Given the description of an element on the screen output the (x, y) to click on. 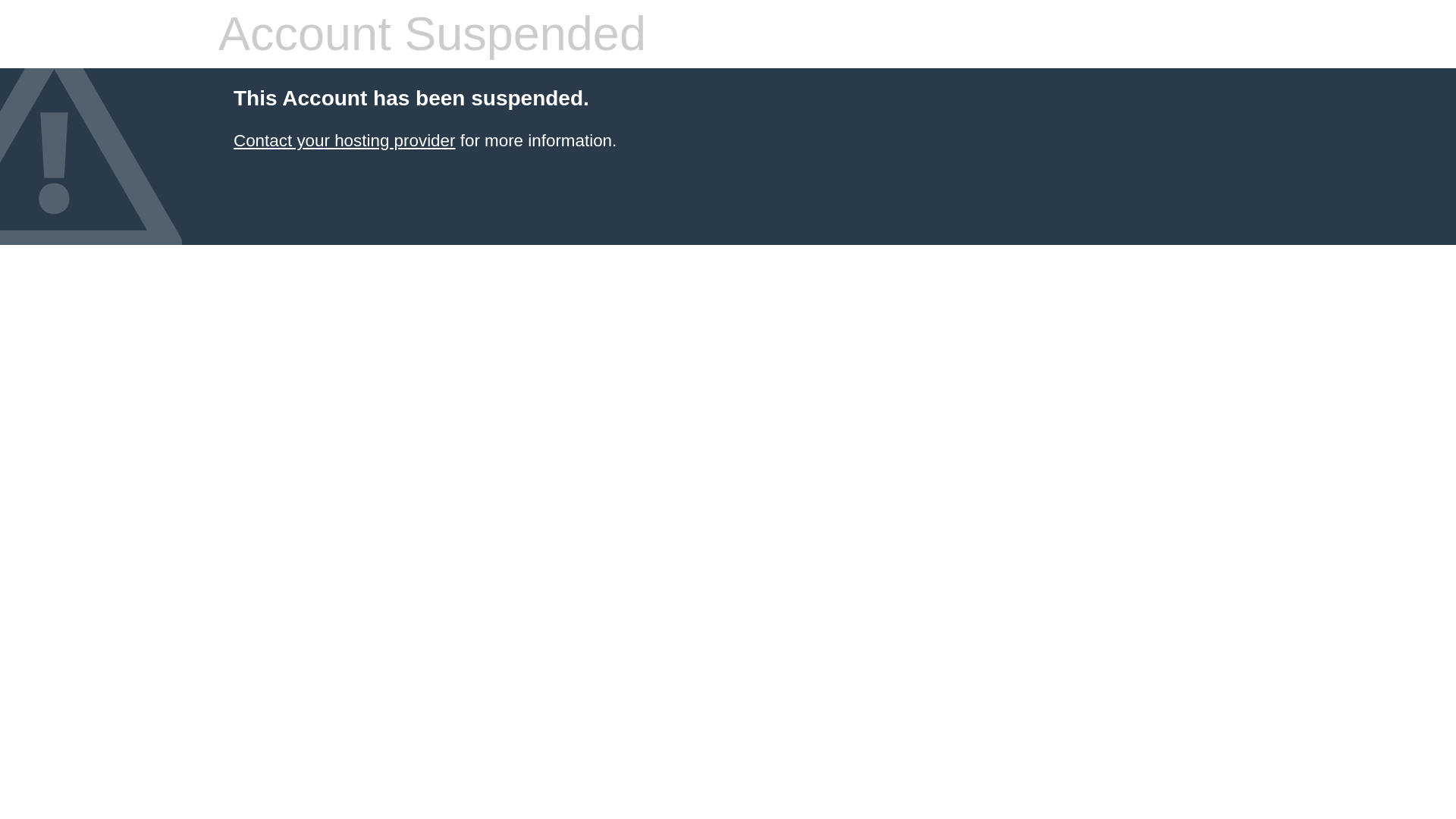
Contact your hosting provider (343, 140)
